Given the description of an element on the screen output the (x, y) to click on. 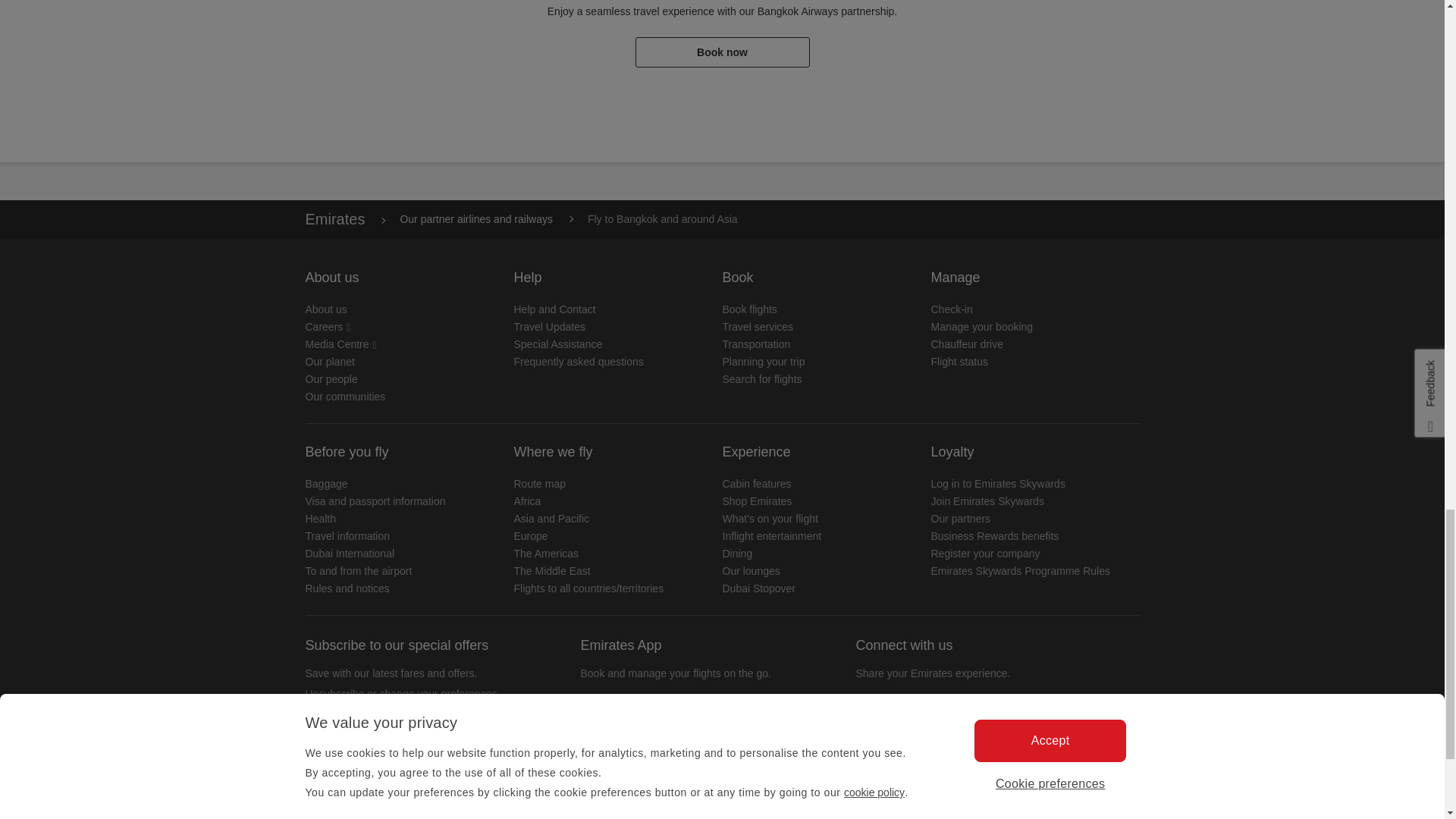
World Class Airline APEX Official Airline Ratings (395, 813)
Facebook (870, 730)
privacy policy (374, 778)
Apex five star rating 2021 (673, 813)
Instagram (1009, 730)
Unsubscribe or change your preferences (400, 693)
X-social (904, 730)
Youtube (974, 730)
LinkedIn (939, 730)
